Given the description of an element on the screen output the (x, y) to click on. 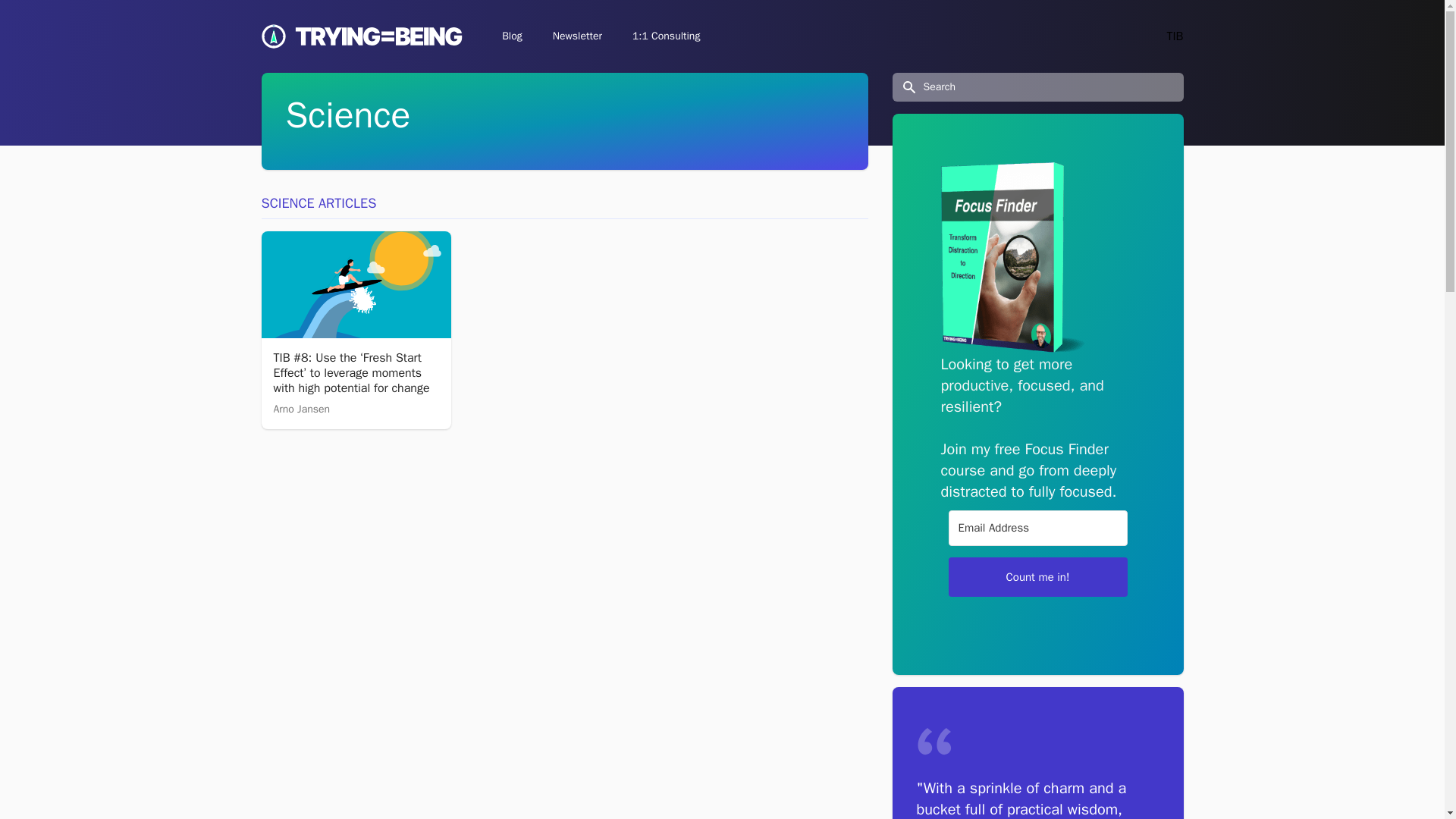
Blog (512, 35)
Count me in! (1036, 577)
Newsletter (577, 35)
1:1 Consulting (666, 35)
